Given the description of an element on the screen output the (x, y) to click on. 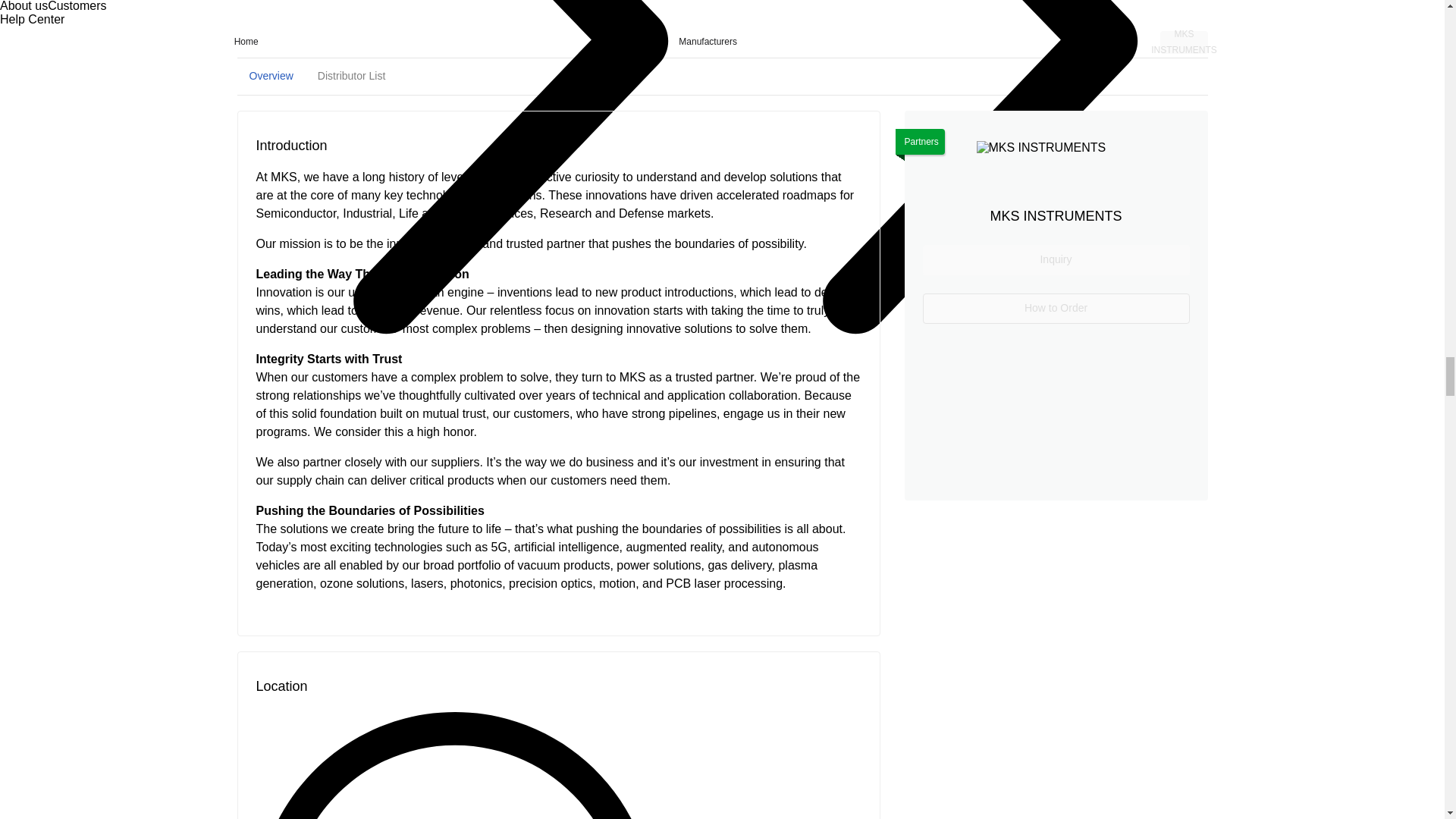
How to Order (1055, 308)
Distributor List (351, 76)
Inquiry (1055, 259)
About us (24, 6)
Help Center (32, 19)
MKS INSTRUMENTS (1183, 42)
Customers (77, 6)
Overview (721, 76)
Manufacturers (269, 76)
